Given the description of an element on the screen output the (x, y) to click on. 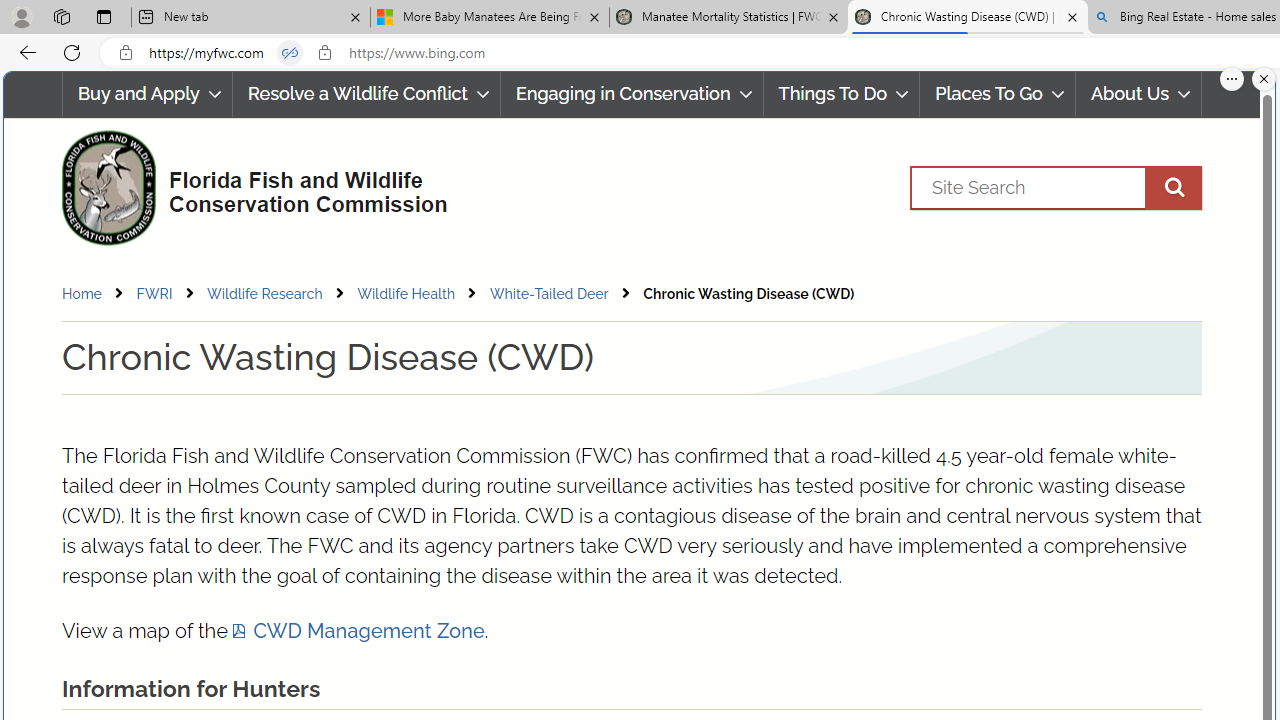
About Us (1138, 94)
About Us (1139, 94)
Resolve a Wildlife Conflict (365, 94)
execute site search (1173, 187)
Engaging in Conservation (631, 94)
Things To Do (841, 94)
Buy and Apply (146, 94)
FWRI (153, 293)
Home (81, 293)
Engaging in Conservation (632, 94)
